Given the description of an element on the screen output the (x, y) to click on. 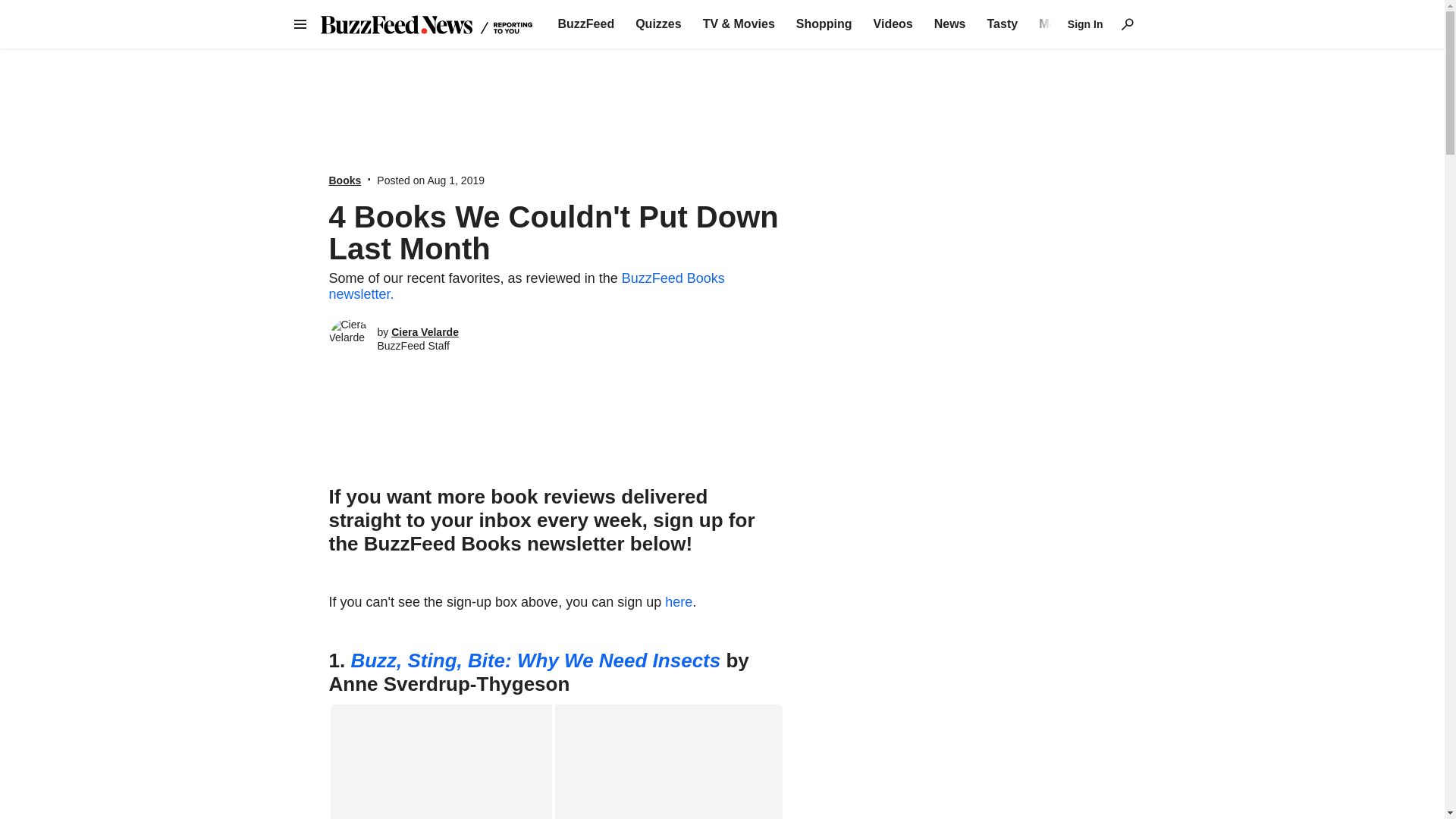
Make a Quiz (1073, 24)
Quizzes (657, 24)
Shopping (823, 24)
Videos (892, 24)
BuzzFeed (585, 24)
Sign In (1085, 23)
Tasty (1002, 24)
News (950, 24)
